Given the description of an element on the screen output the (x, y) to click on. 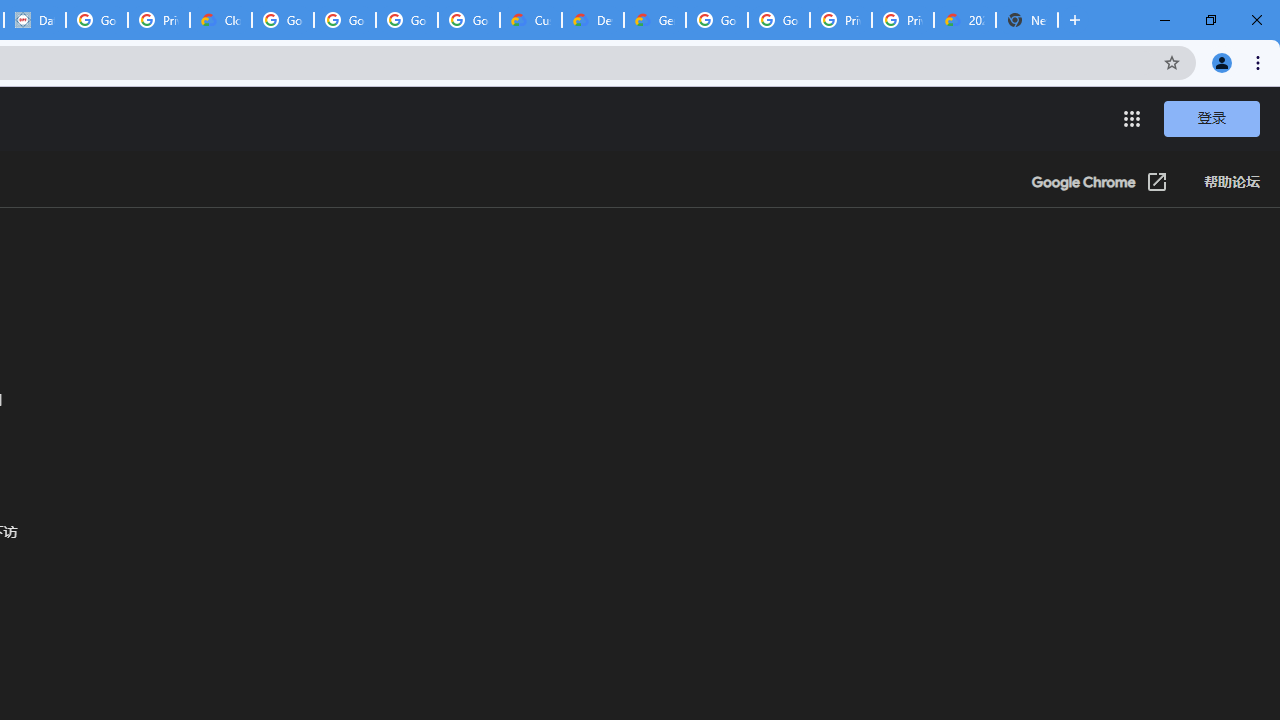
Customer Care | Google Cloud (530, 20)
New Tab (1026, 20)
Google Cloud Platform (716, 20)
Gemini for Business and Developers | Google Cloud (654, 20)
Google Cloud Platform (778, 20)
Google Workspace - Specific Terms (406, 20)
